Given the description of an element on the screen output the (x, y) to click on. 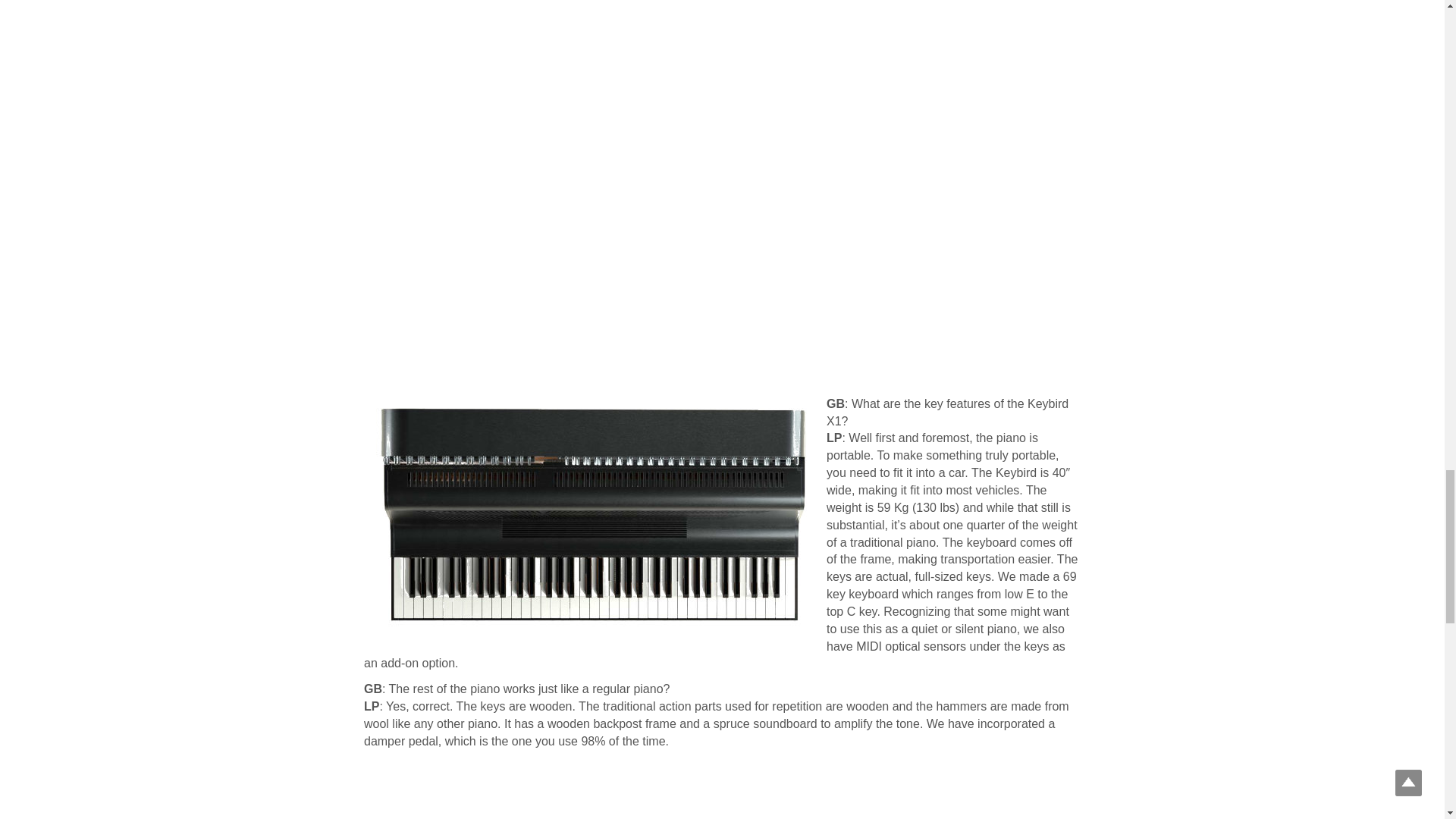
YouTube video player (722, 785)
